Given the description of an element on the screen output the (x, y) to click on. 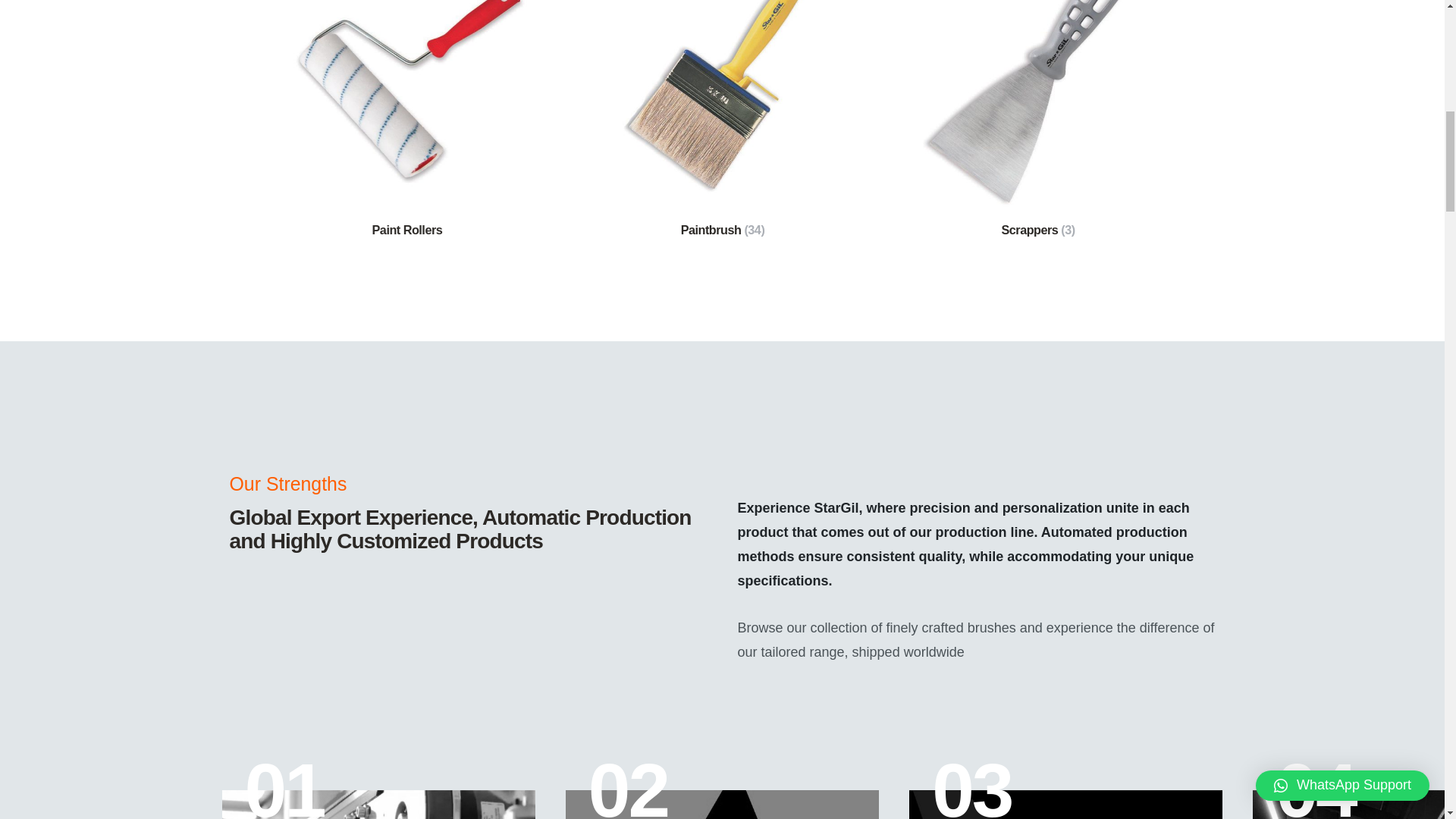
Homepage-Banners-Template-11 (722, 804)
Homepage-Banners-Template12 (377, 804)
Homepage-Banners-Template13 (1065, 804)
Paint Rollers (377, 804)
